Given the description of an element on the screen output the (x, y) to click on. 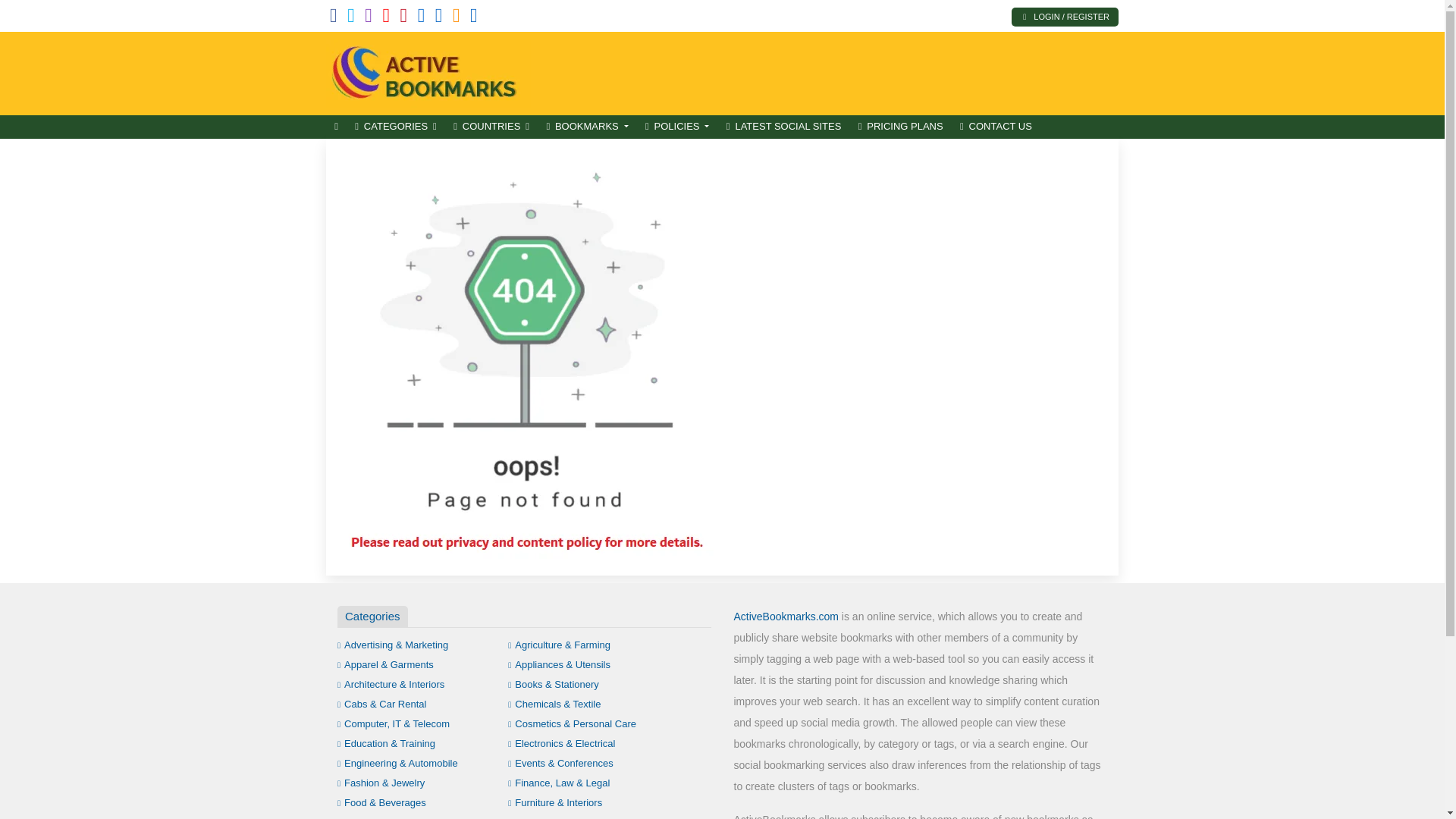
Quality Article Submitter and Social Bookmarking Service (428, 71)
CATEGORIES (395, 126)
